Given the description of an element on the screen output the (x, y) to click on. 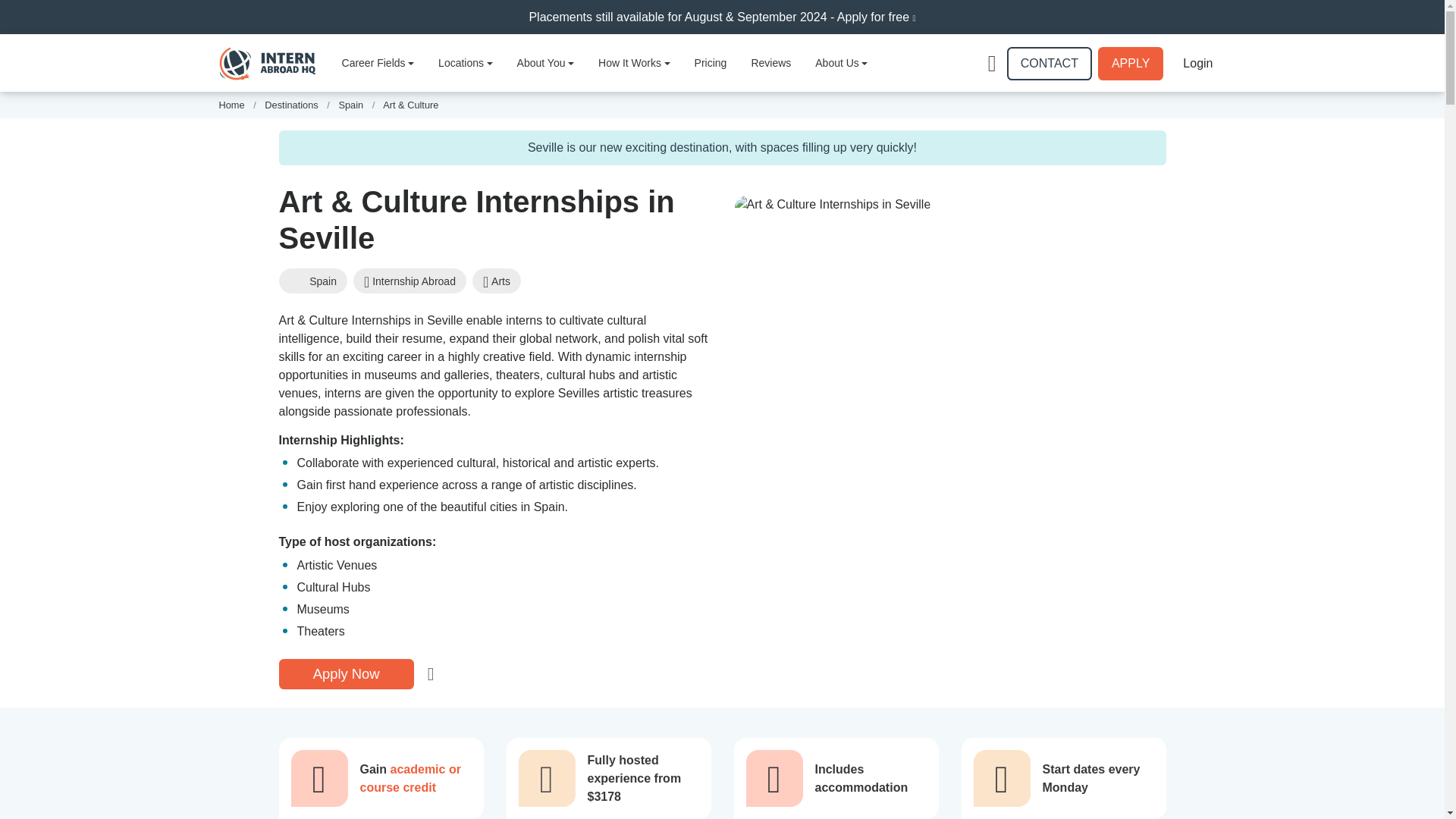
Career Fields (378, 62)
Go to MyIAHQ (1197, 63)
